Given the description of an element on the screen output the (x, y) to click on. 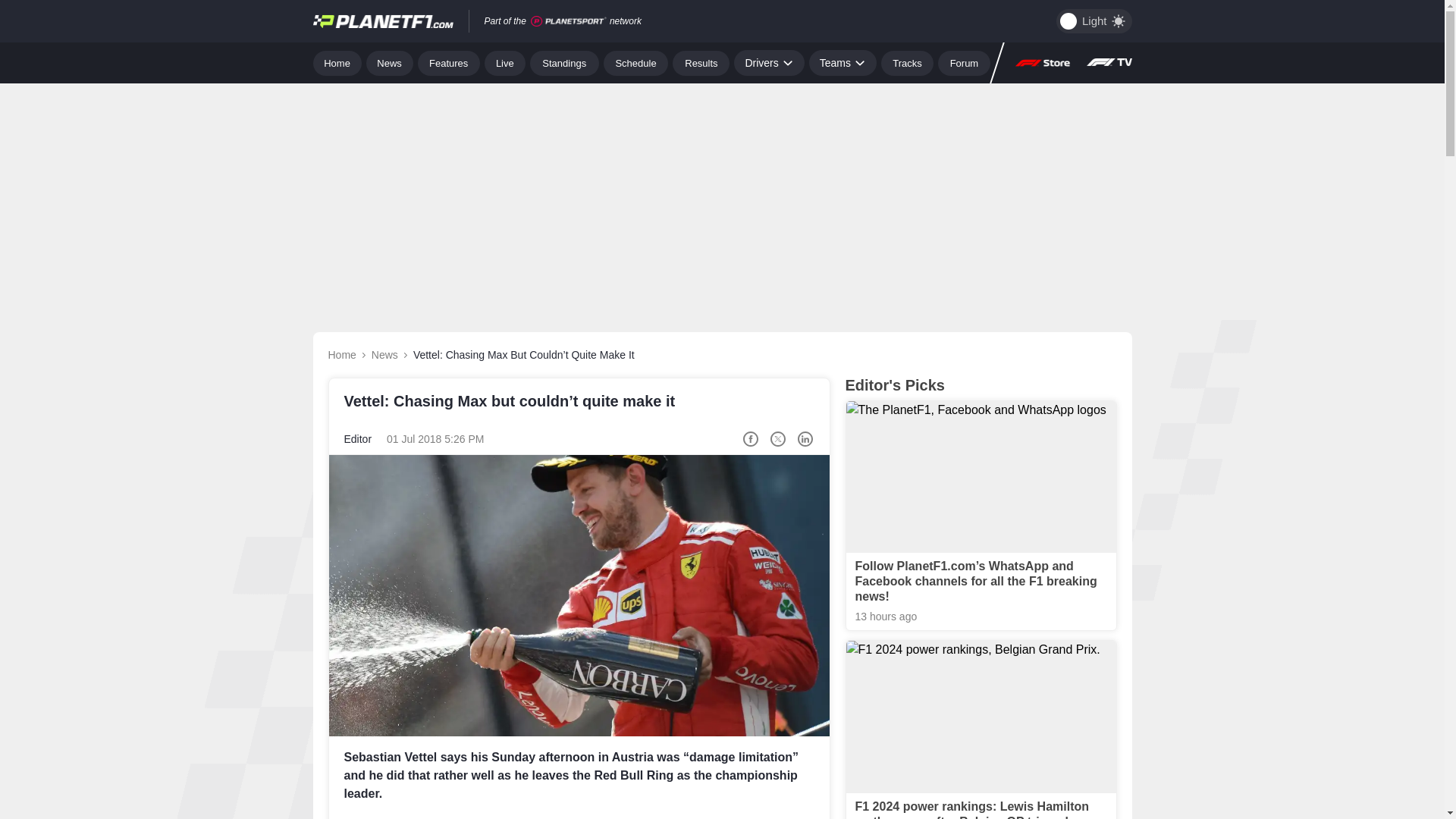
Standings (563, 62)
Drivers (768, 62)
Home (337, 62)
Features (448, 62)
Schedule (636, 62)
Teams (842, 62)
Results (700, 62)
Live (504, 62)
News (389, 62)
